Given the description of an element on the screen output the (x, y) to click on. 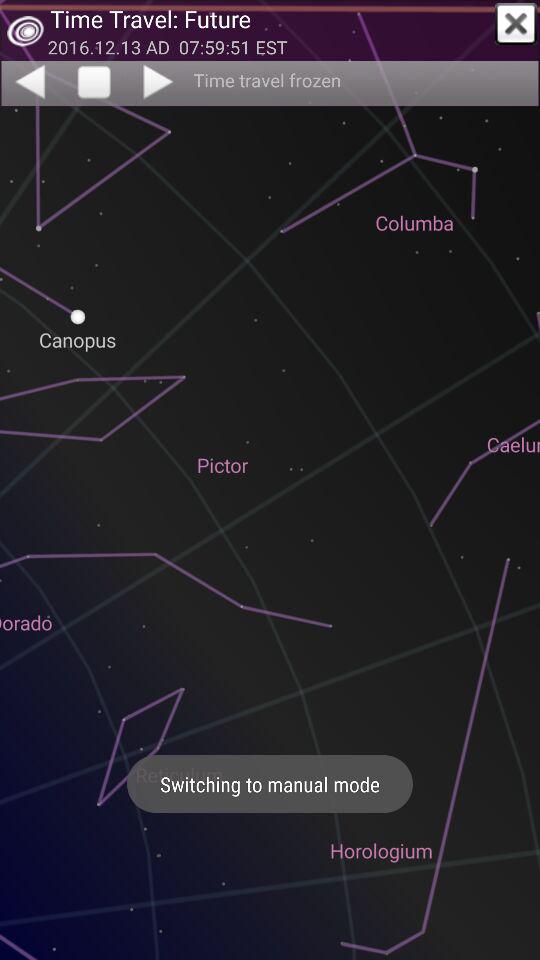
more forward (160, 81)
